Given the description of an element on the screen output the (x, y) to click on. 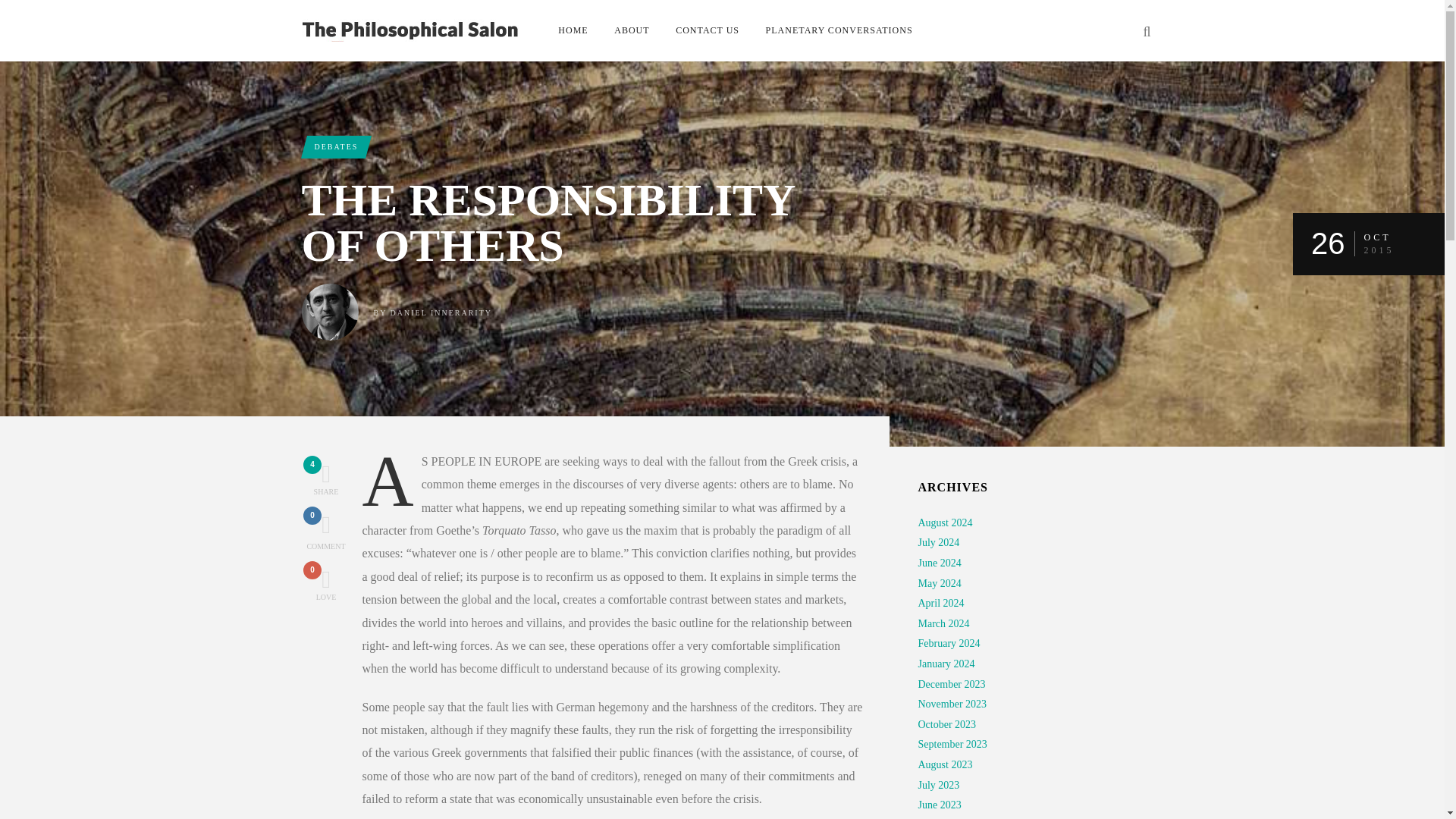
January 2024 (945, 663)
February 2024 (948, 643)
CONTACT US (706, 30)
HOME (573, 30)
September 2023 (952, 744)
ABOUT (631, 30)
October 2023 (325, 532)
More Debates Posts (946, 724)
PLANETARY CONVERSATIONS (335, 146)
